Given the description of an element on the screen output the (x, y) to click on. 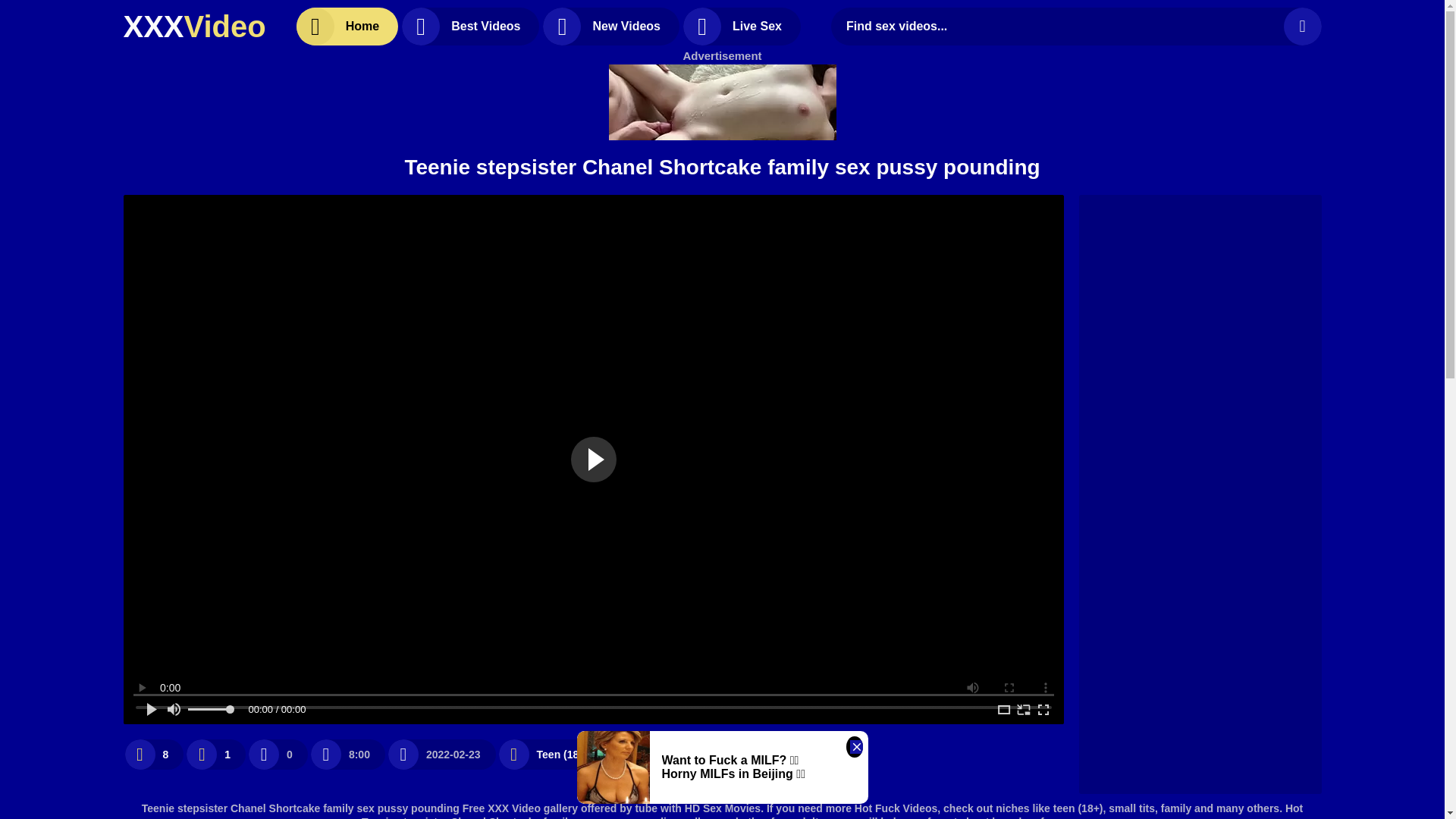
New Videos (611, 26)
Small Tits (658, 753)
8 (153, 753)
Small Tits (658, 753)
Home (347, 26)
Home (347, 26)
Best Videos (469, 26)
1 (216, 753)
Family (756, 753)
XXX Video24 (193, 26)
